Given the description of an element on the screen output the (x, y) to click on. 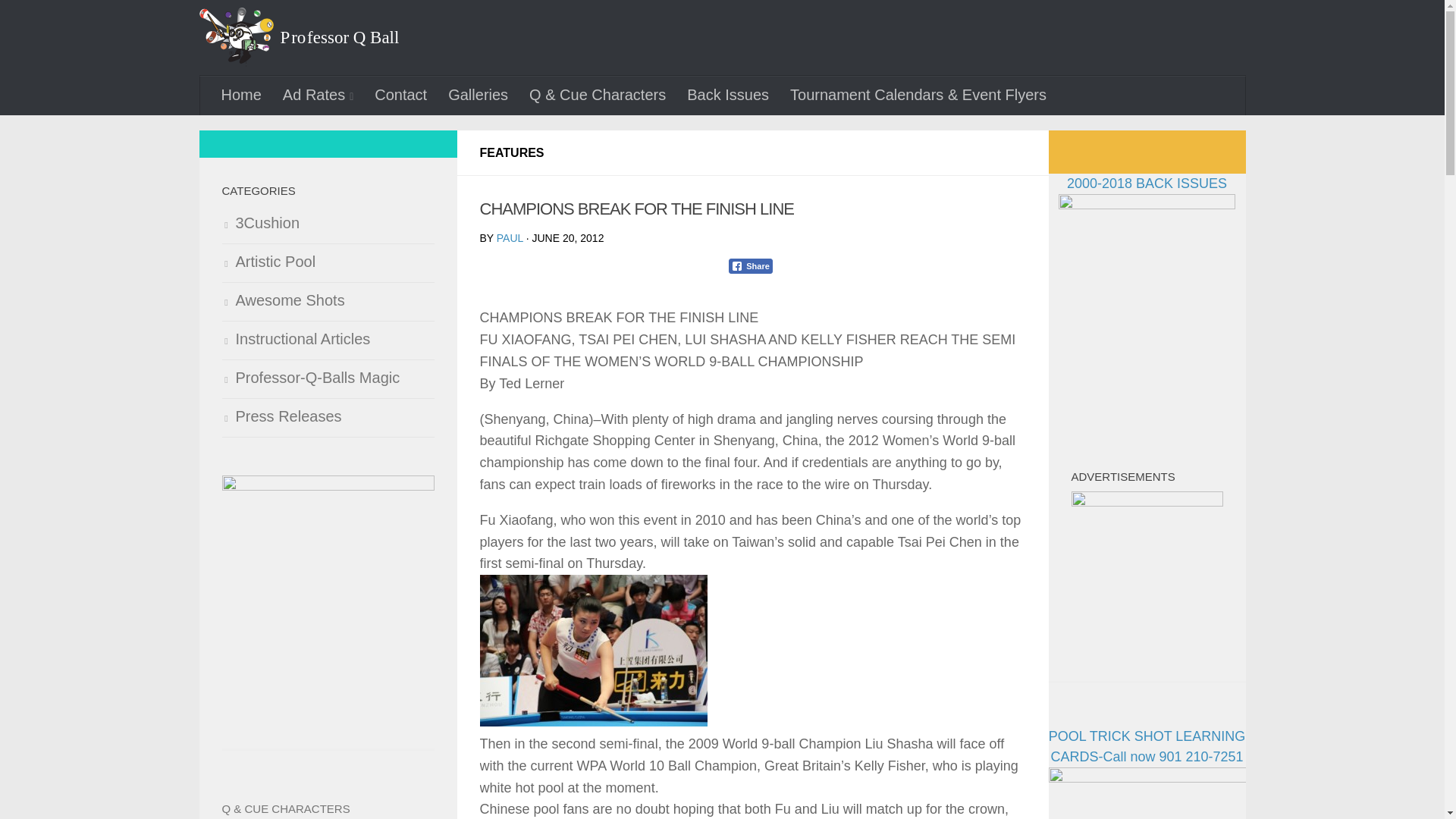
Artistic Pool (327, 263)
Professor-Q-Balls Magic (327, 379)
Awesome Shots (327, 301)
Ad Rates (318, 95)
Instructional Articles (327, 340)
PEACHAUER-AD-220x220 (1146, 566)
2000-2018 BACK ISSUES (1146, 194)
Galleries (478, 94)
Cuesmith-Hightower-160x160 (327, 581)
Share (751, 265)
